Given the description of an element on the screen output the (x, y) to click on. 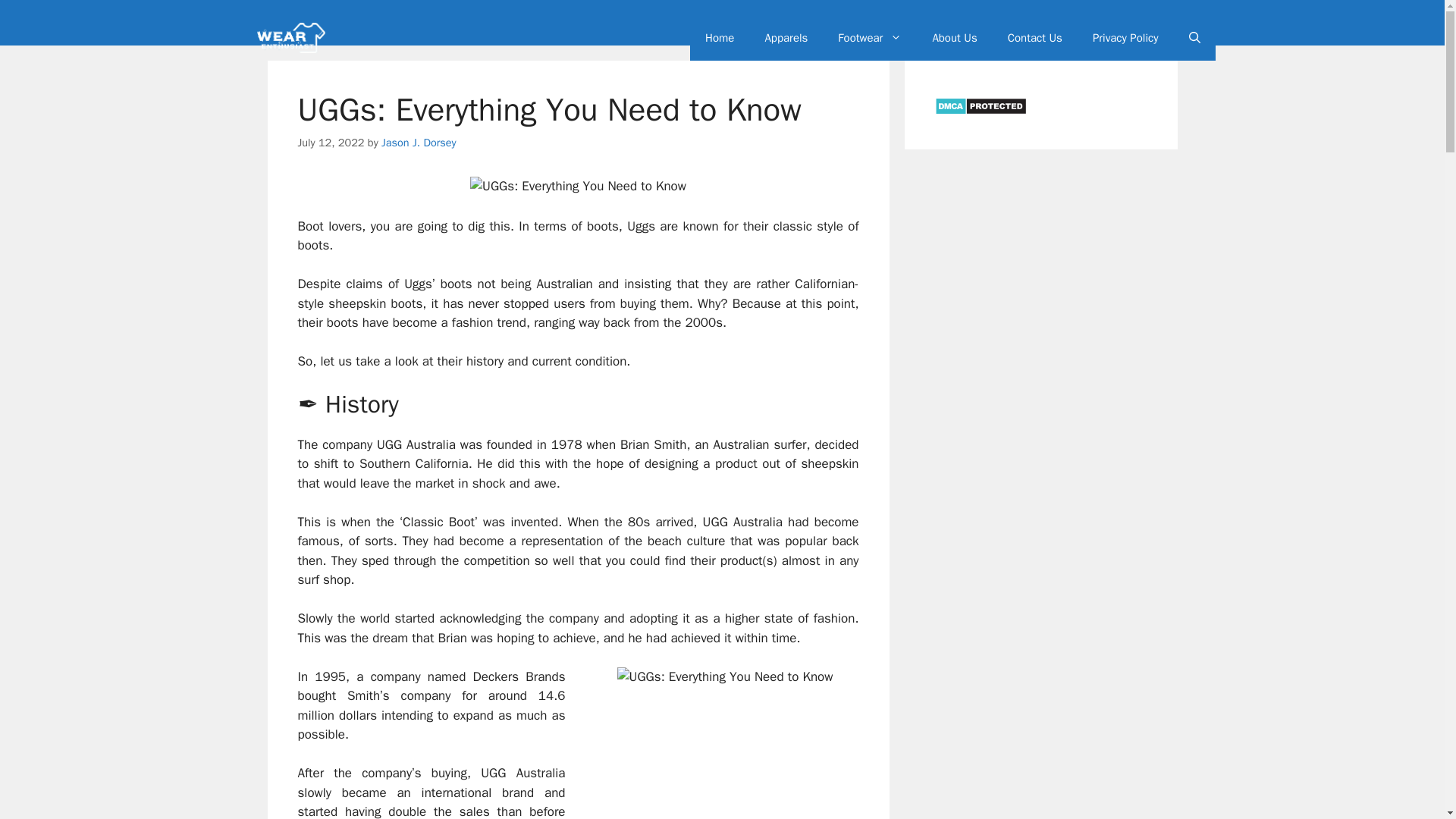
Footwear (869, 37)
View all posts by Jason J. Dorsey (419, 142)
DMCA.com Protection Status (980, 111)
Apparels (785, 37)
Home (719, 37)
About Us (954, 37)
Privacy Policy (1125, 37)
Contact Us (1034, 37)
Jason J. Dorsey (419, 142)
